Given the description of an element on the screen output the (x, y) to click on. 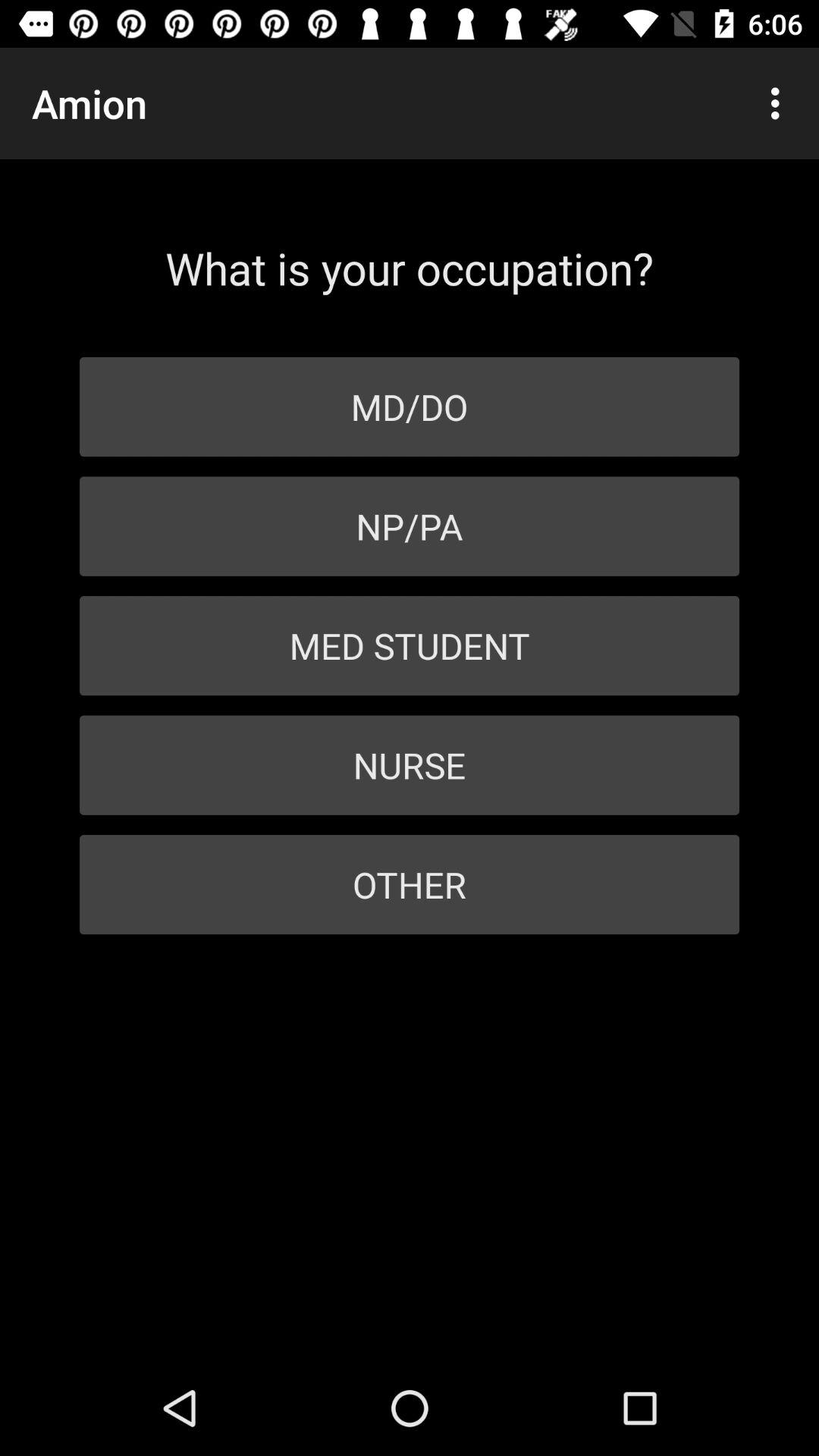
open np/pa icon (409, 526)
